Given the description of an element on the screen output the (x, y) to click on. 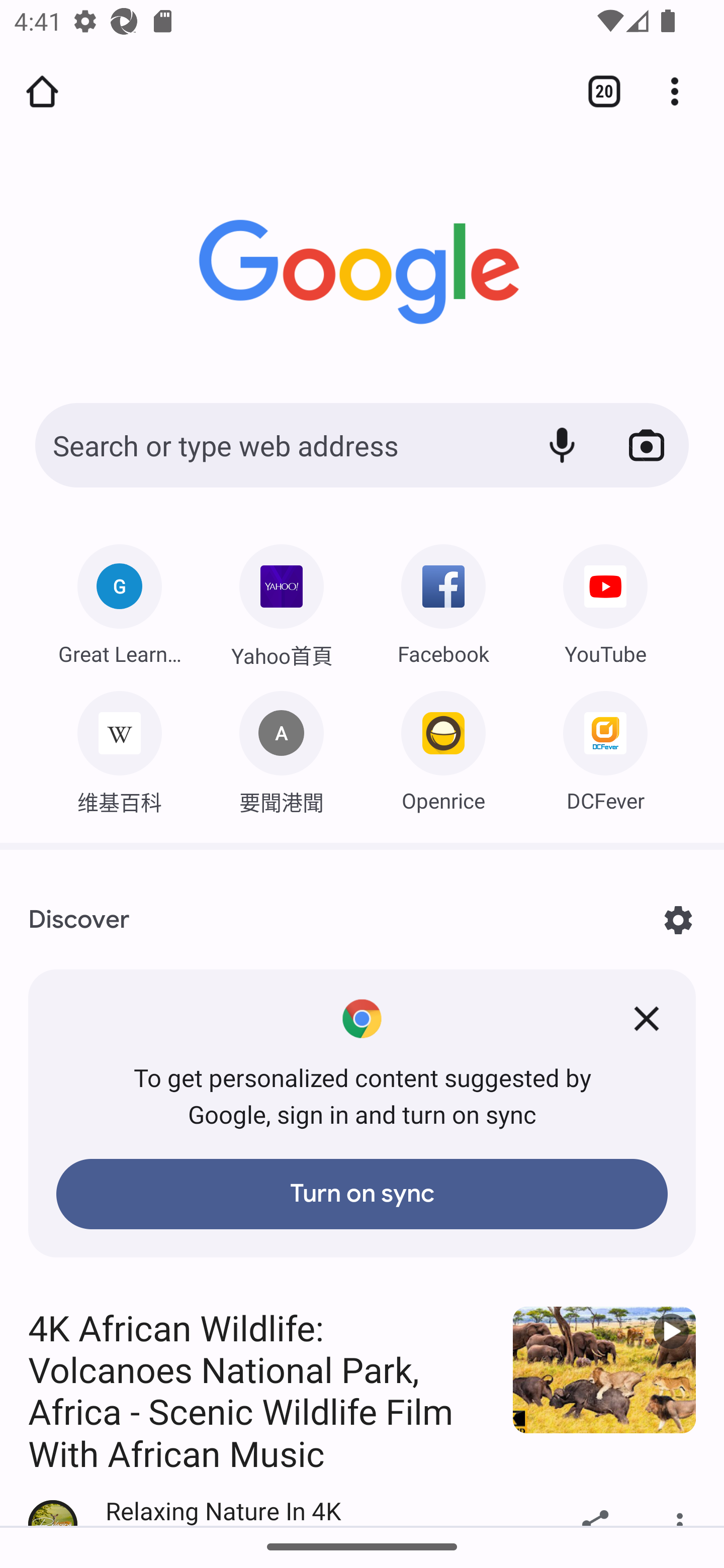
Home (42, 91)
Switch or close tabs (597, 91)
More options (681, 91)
Search or type web address (275, 444)
Start voice search (561, 444)
Search with your camera using Google Lens (646, 444)
Great Learning Education Centre (119, 599)
Yahoo首頁 (281, 601)
Facebook (443, 599)
YouTube (605, 599)
维基百科 (119, 746)
要聞港聞 (281, 746)
Openrice (443, 746)
DCFever (605, 746)
Options for Discover (677, 919)
Close (646, 1018)
Turn on sync (361, 1193)
